Given the description of an element on the screen output the (x, y) to click on. 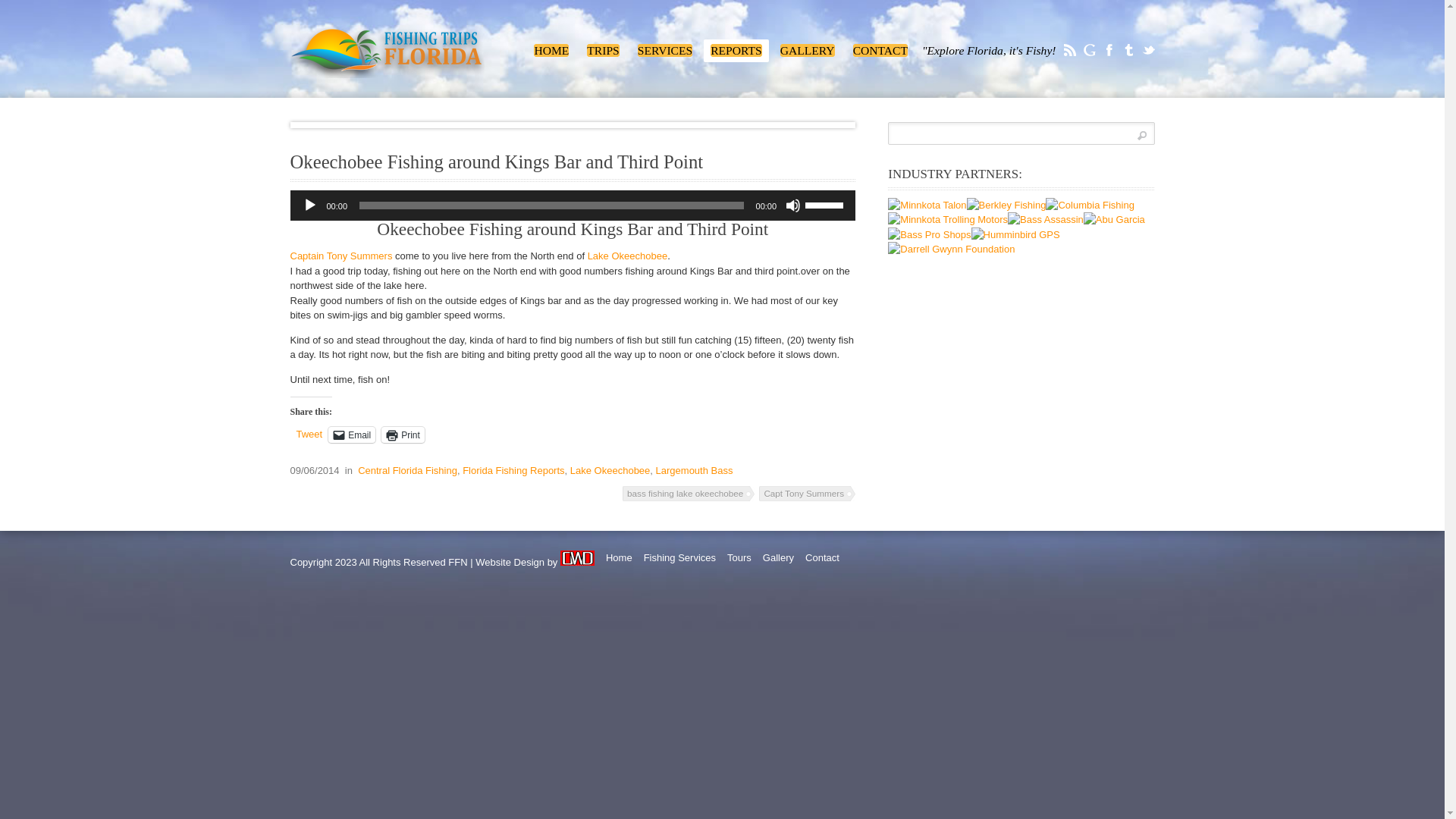
Central Florida Fishing (407, 470)
Florida Fishing Reports (513, 470)
Fishing Trips Florida (551, 50)
Facebook (1108, 50)
Services (664, 50)
GALLERY (814, 55)
Play (664, 50)
Google (309, 205)
